Given the description of an element on the screen output the (x, y) to click on. 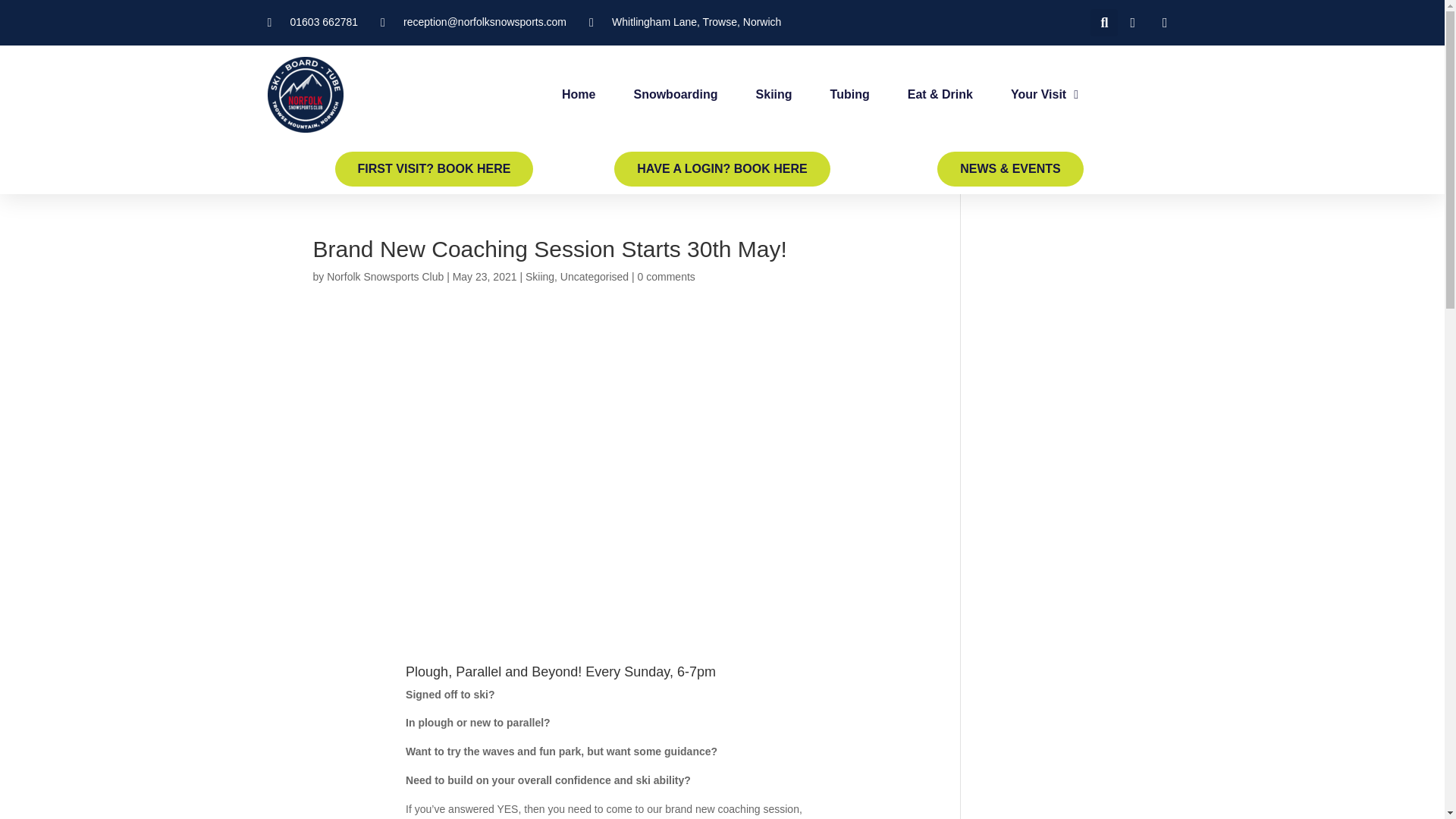
Your Visit (1044, 94)
Skiing (773, 94)
Norfolk Snowsports Club (385, 276)
Snowboarding (675, 94)
Uncategorised (594, 276)
FIRST VISIT? BOOK HERE (434, 168)
Posts by Norfolk Snowsports Club (385, 276)
Tubing (849, 94)
Home (578, 94)
Skiing (539, 276)
